Given the description of an element on the screen output the (x, y) to click on. 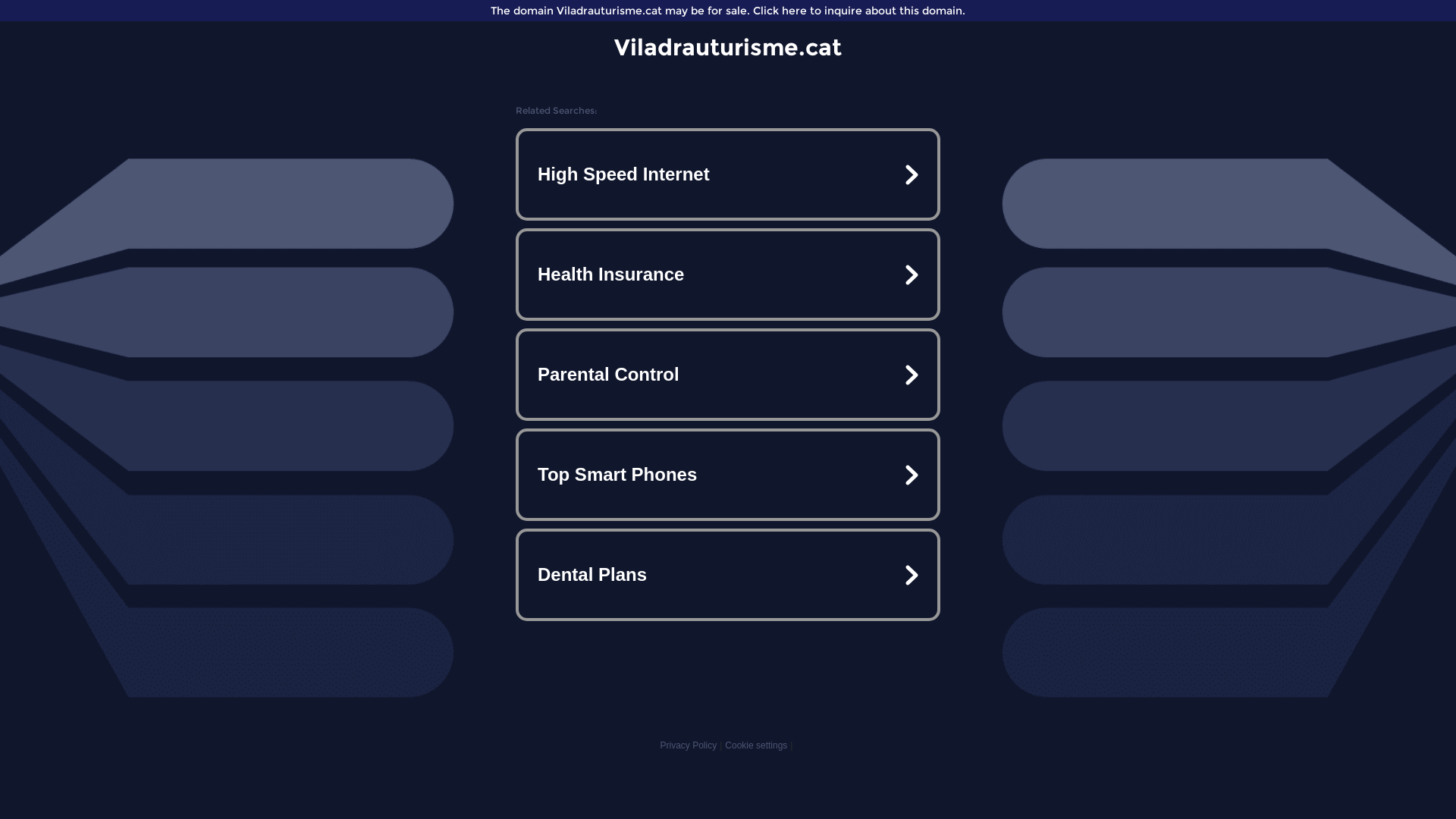
High Speed Internet Element type: text (727, 174)
Dental Plans Element type: text (727, 574)
Viladrauturisme.cat Element type: text (727, 47)
Parental Control Element type: text (727, 374)
Top Smart Phones Element type: text (727, 474)
Cookie settings Element type: text (755, 745)
Health Insurance Element type: text (727, 274)
Privacy Policy Element type: text (687, 745)
